Given the description of an element on the screen output the (x, y) to click on. 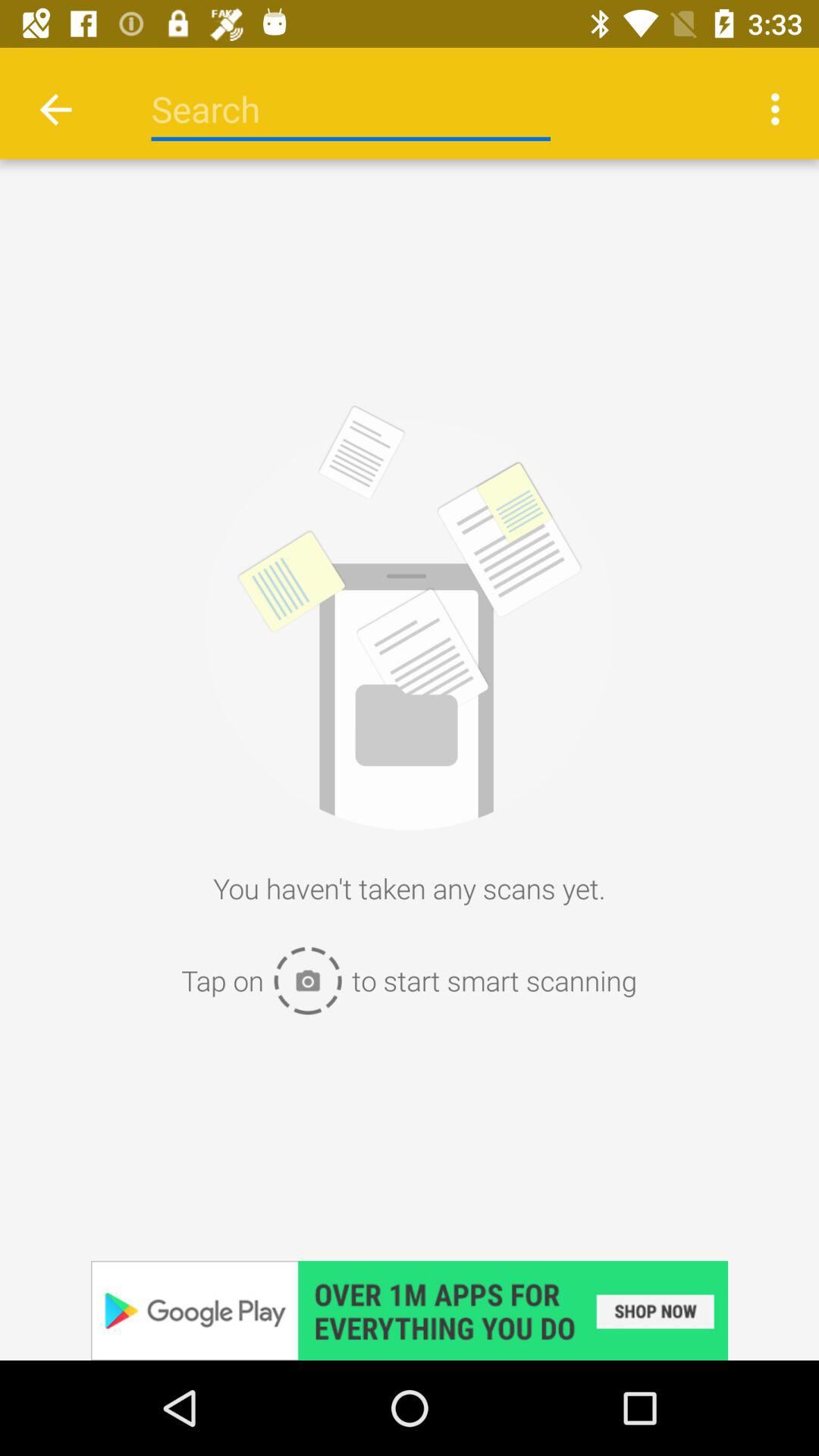
go to the advertisement (409, 1310)
